Given the description of an element on the screen output the (x, y) to click on. 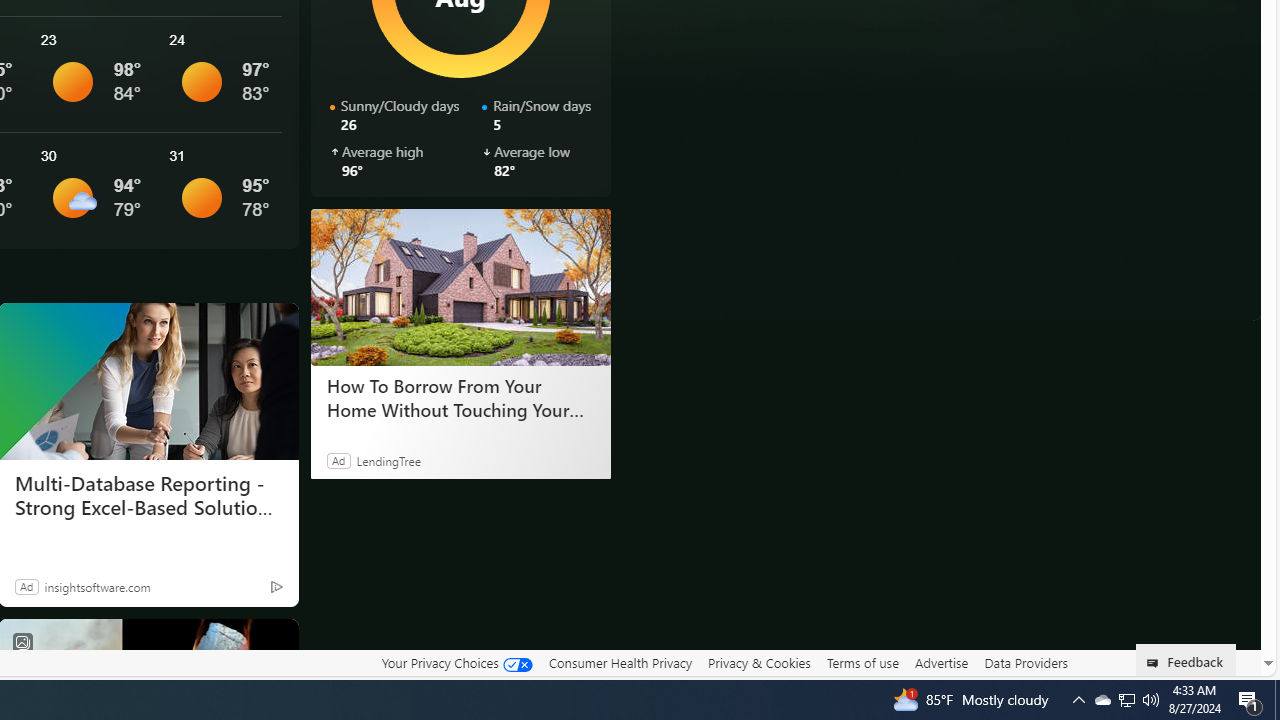
Data Providers (1025, 662)
LendingTree (388, 460)
Your Privacy Choices (456, 662)
See More Details (221, 190)
